Given the description of an element on the screen output the (x, y) to click on. 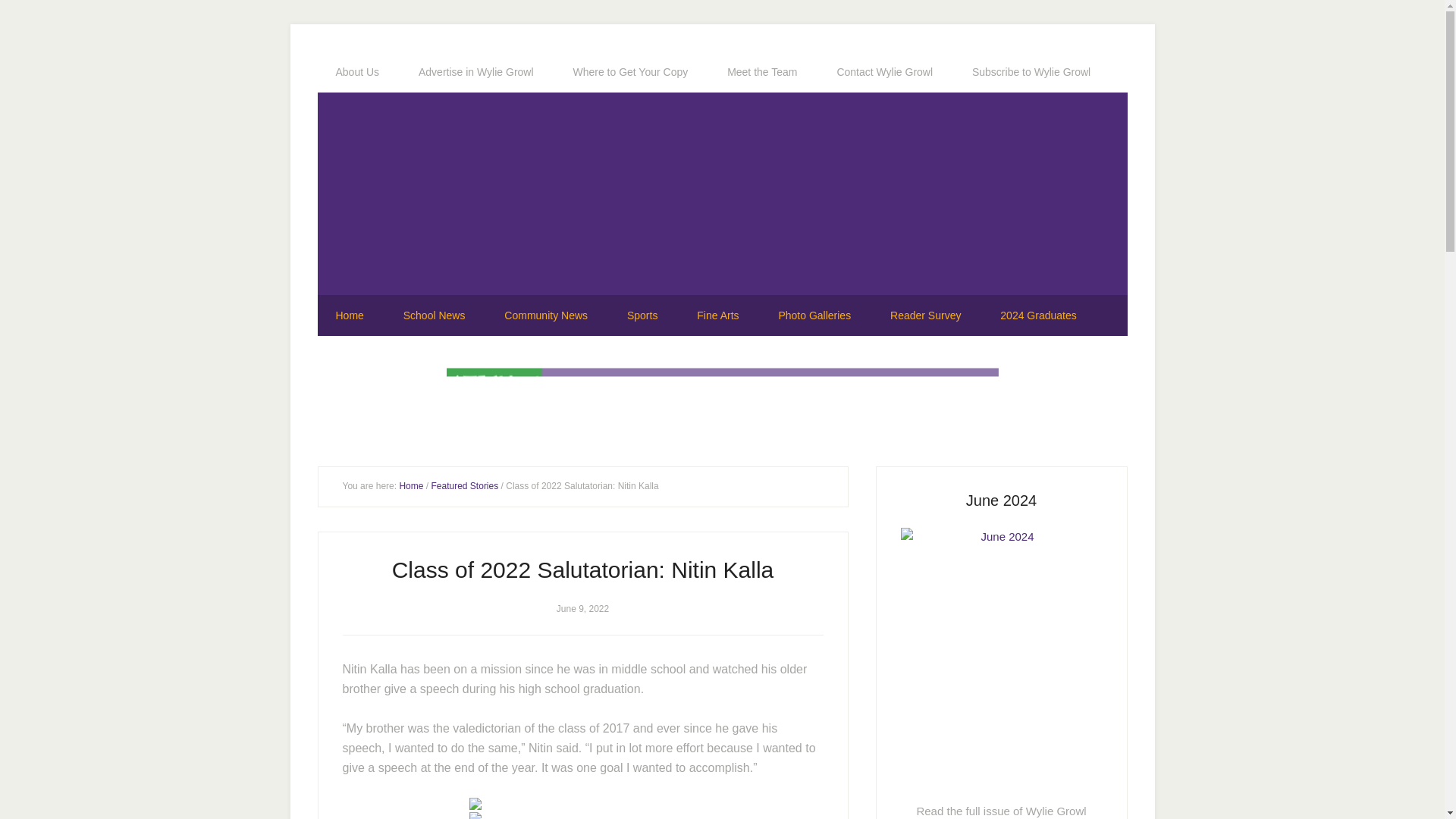
Photo Galleries (814, 314)
The Wylie Growl (721, 197)
About Us (357, 71)
Advertise in Wylie Growl (475, 71)
Home (349, 314)
Where to Get Your Copy (630, 71)
Fine Arts (717, 314)
Meet the Team (762, 71)
Subscribe to Wylie Growl (1030, 71)
Contact Wylie Growl (884, 71)
School News (434, 314)
Sports (641, 314)
Reader Survey (925, 314)
Community News (545, 314)
